Given the description of an element on the screen output the (x, y) to click on. 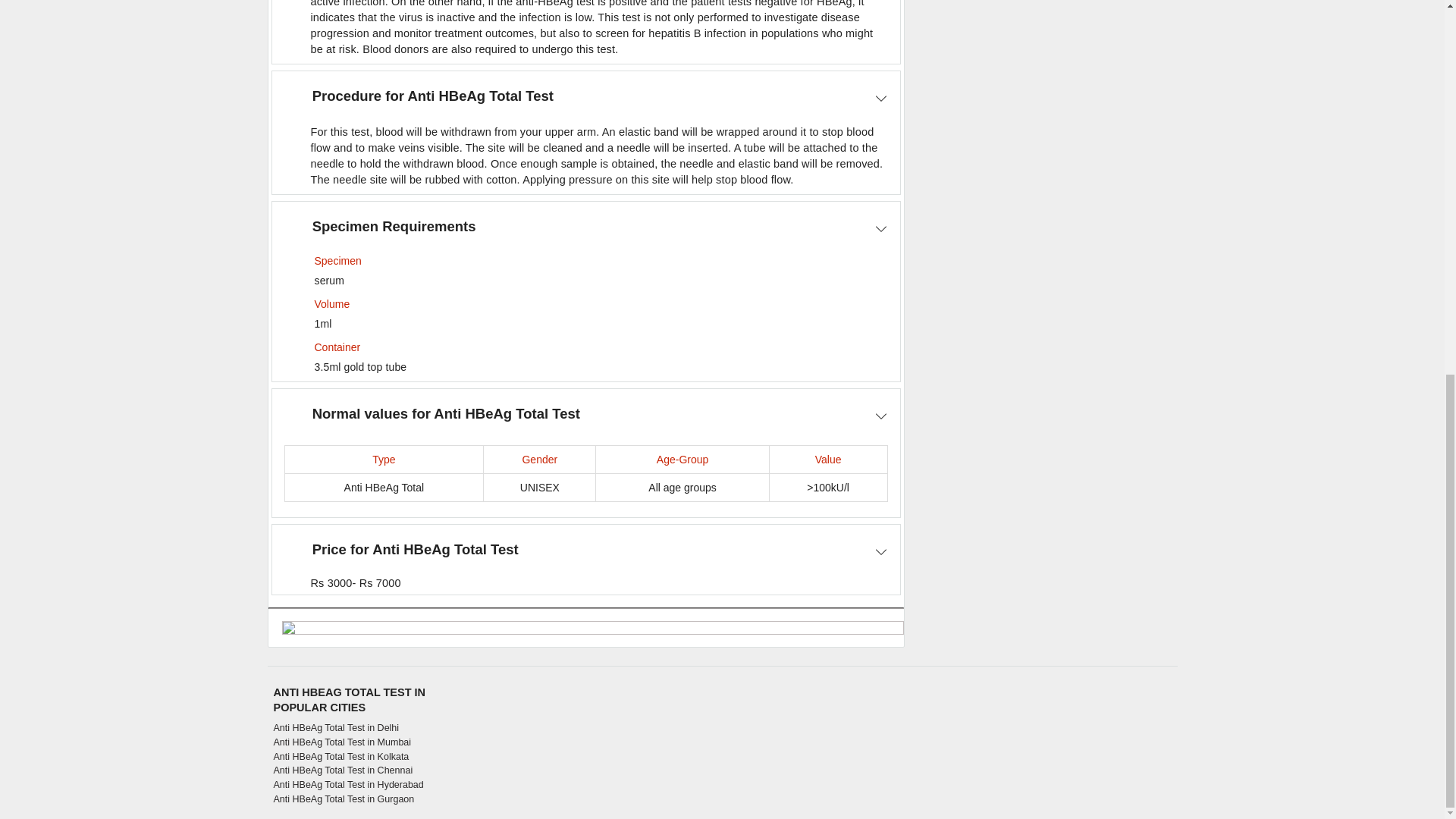
Anti HBeAg Total Test in Delhi (359, 728)
Anti HBeAg Total Test in Chennai (359, 770)
Anti HBeAg Total Test in Kolkata (359, 757)
Anti HBeAg Total Test in Mumbai (359, 742)
Anti HBeAg Total Test in Hyderabad (359, 785)
Anti HBeAg Total Test in Gurgaon (359, 799)
